Given the description of an element on the screen output the (x, y) to click on. 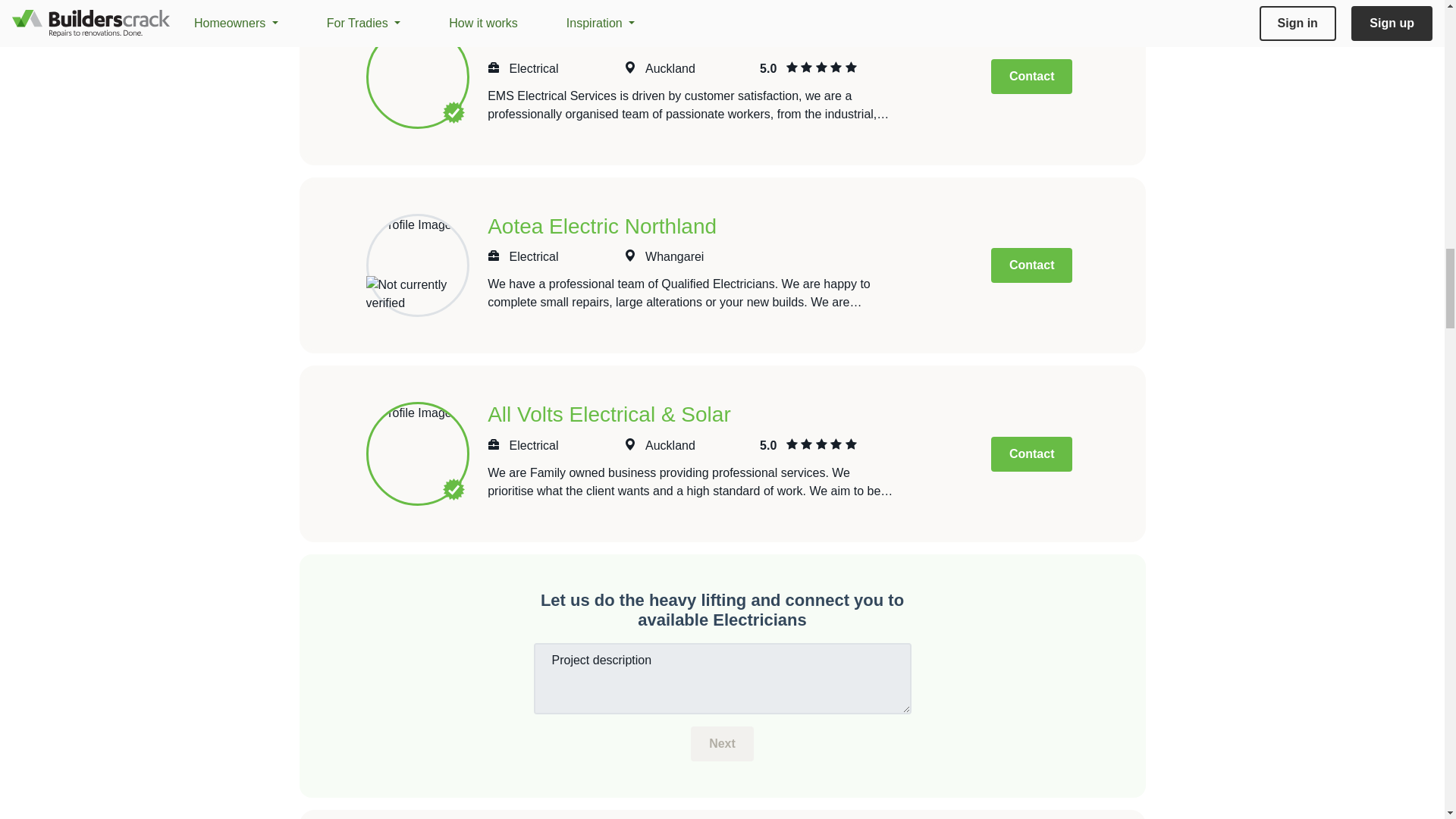
BC Verified (453, 112)
BC Verified (453, 489)
Not currently verified (414, 294)
